Given the description of an element on the screen output the (x, y) to click on. 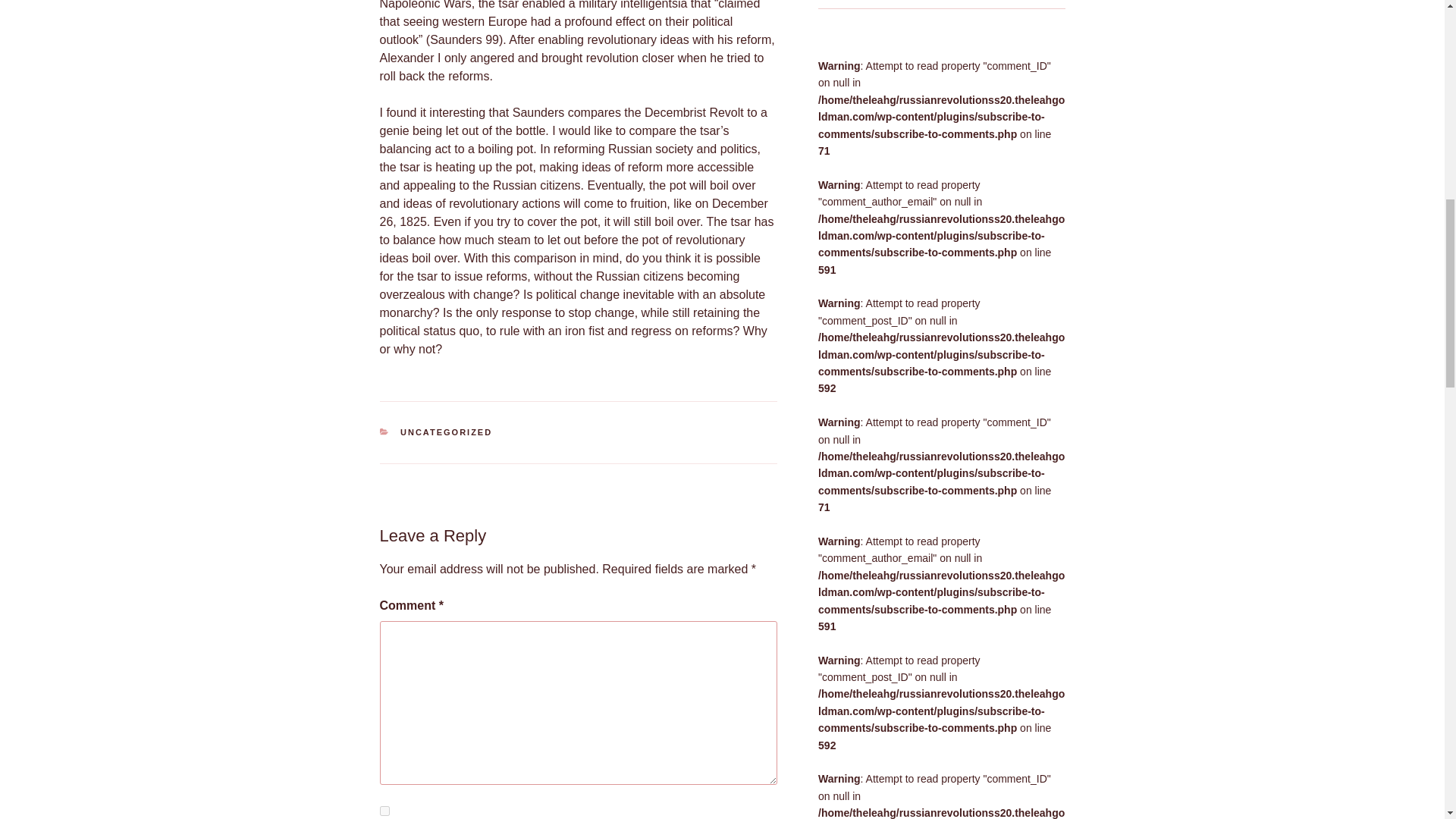
UNCATEGORIZED (446, 431)
subscribe (383, 810)
